Given the description of an element on the screen output the (x, y) to click on. 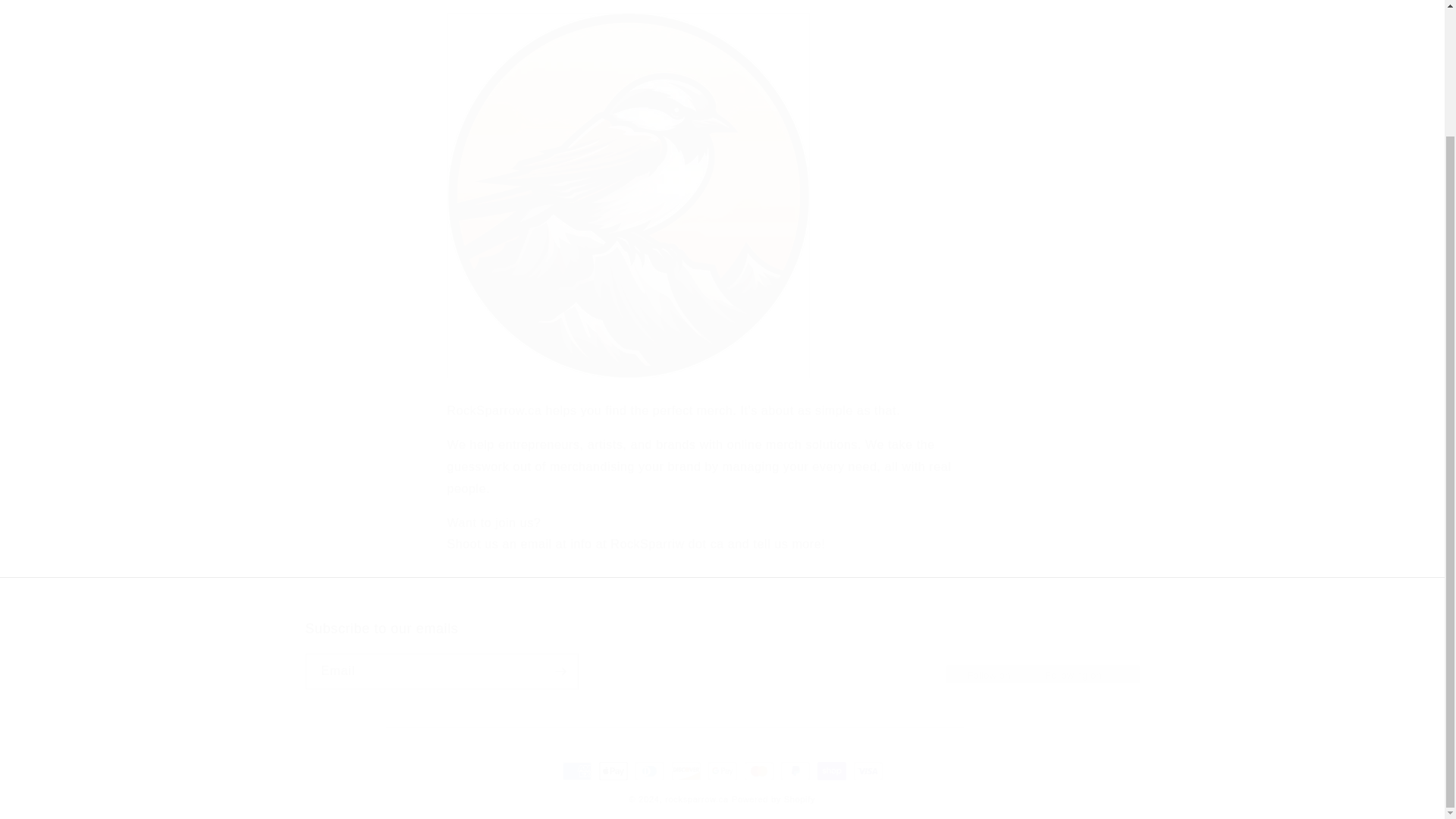
rocksparrow.ca (721, 653)
Powered by Shopify (697, 798)
